Given the description of an element on the screen output the (x, y) to click on. 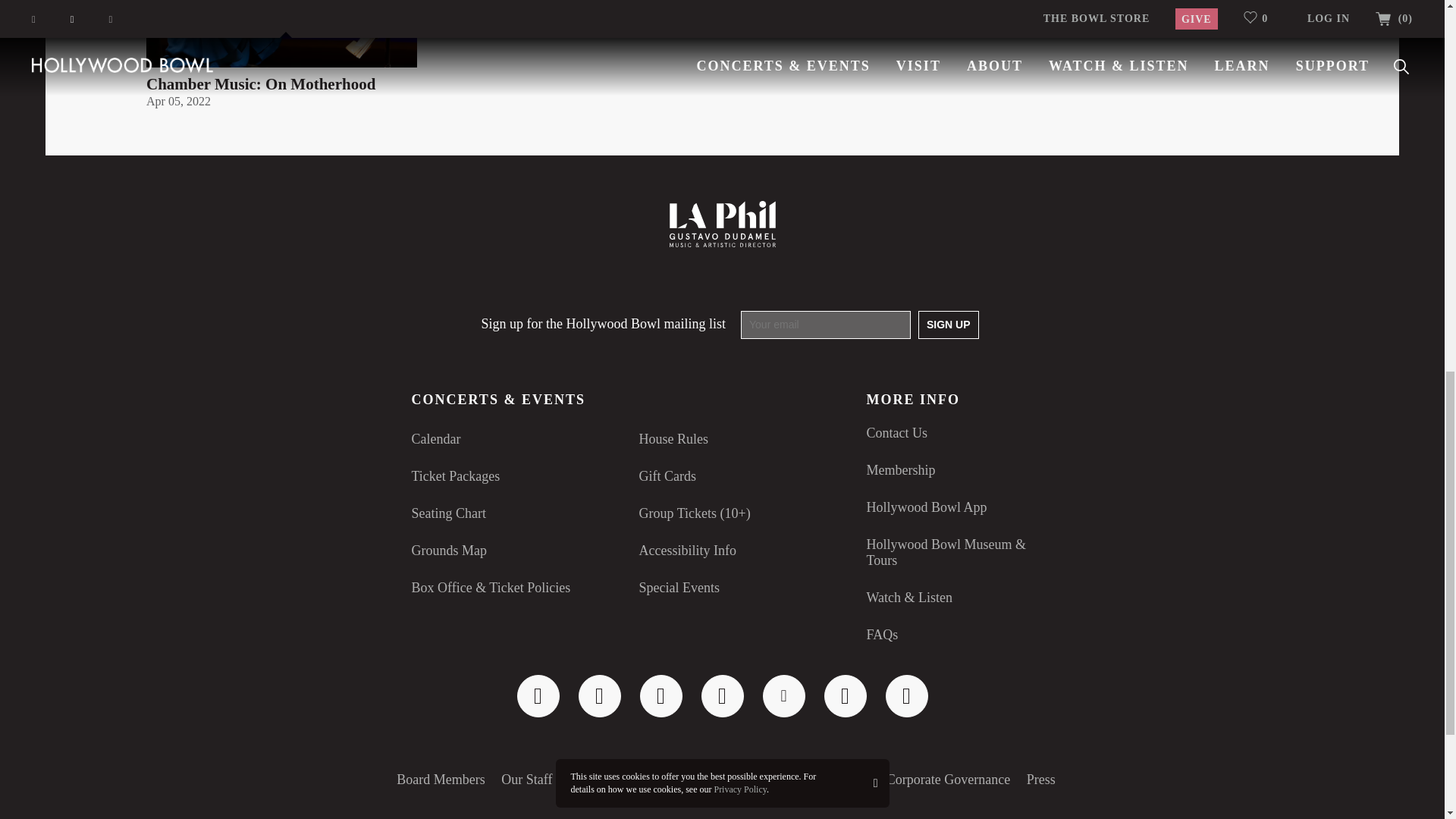
Sign Up (948, 325)
